Given the description of an element on the screen output the (x, y) to click on. 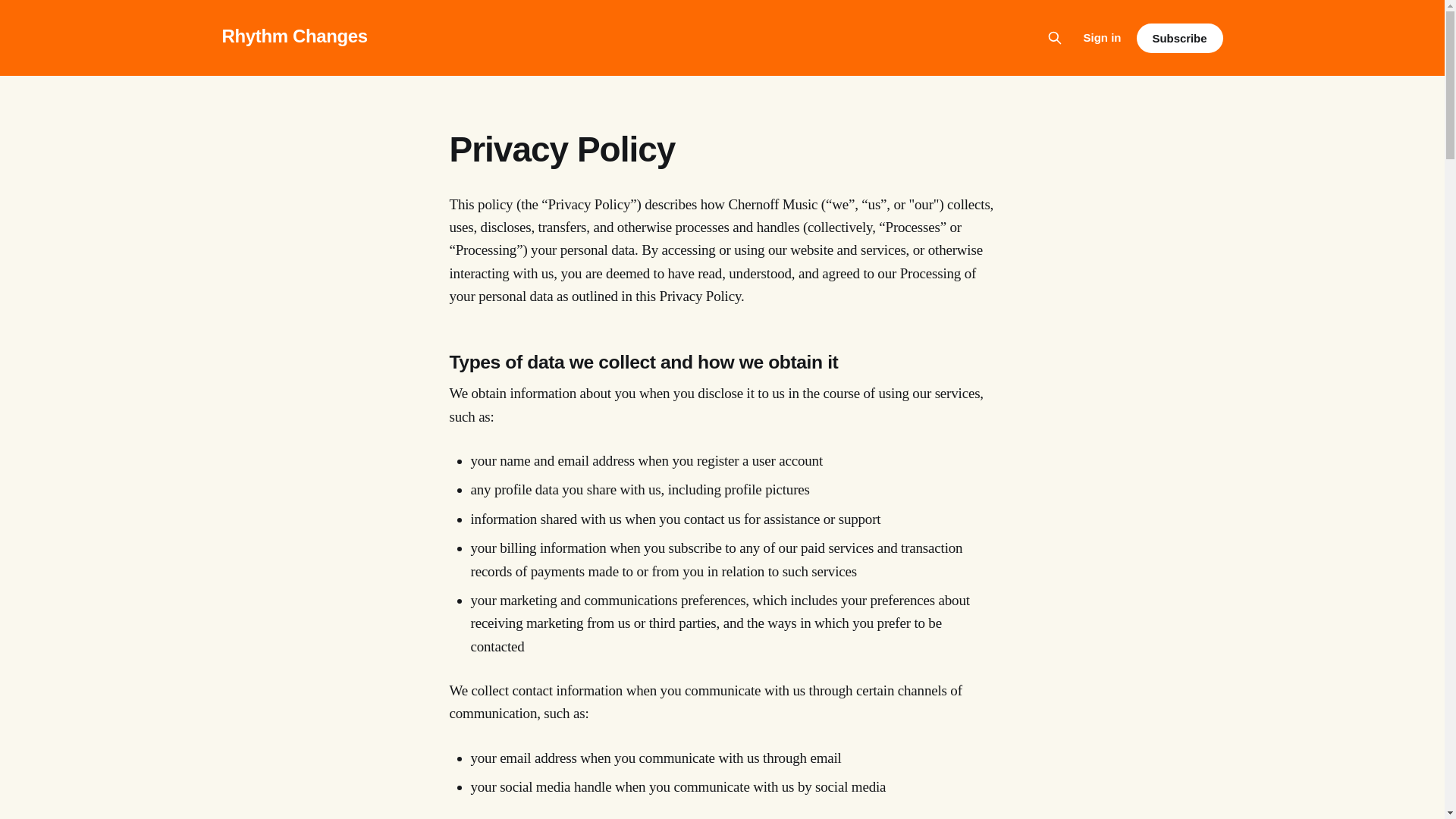
Sign in (1102, 37)
Subscribe (1179, 37)
Rhythm Changes (293, 35)
